Given the description of an element on the screen output the (x, y) to click on. 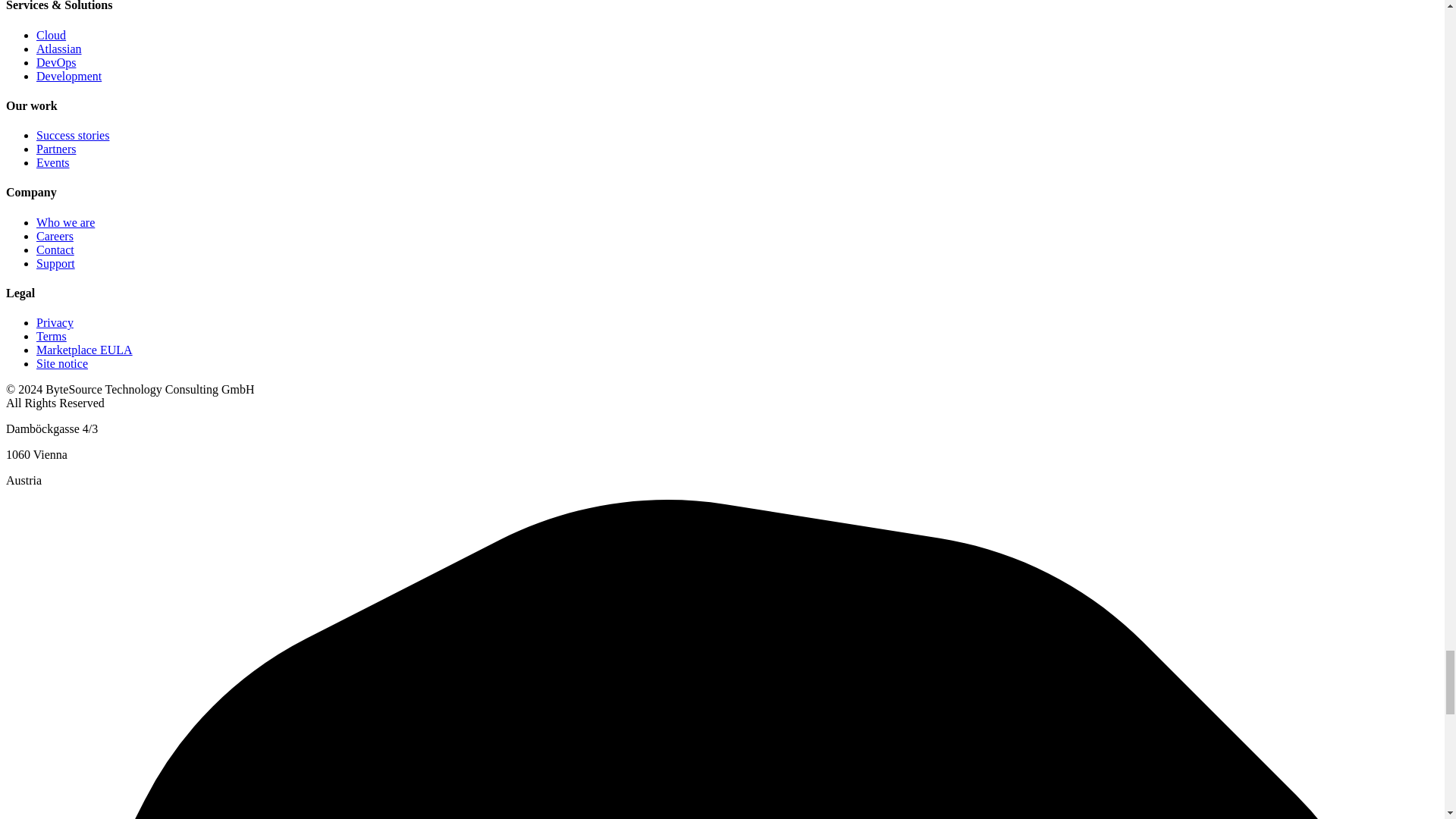
DevOps (55, 62)
Partners (55, 148)
Contact (55, 249)
Marketplace EULA (84, 349)
Atlassian (58, 48)
Success stories (72, 134)
Site notice (61, 363)
Support (55, 263)
Development (68, 75)
Terms (51, 336)
